Given the description of an element on the screen output the (x, y) to click on. 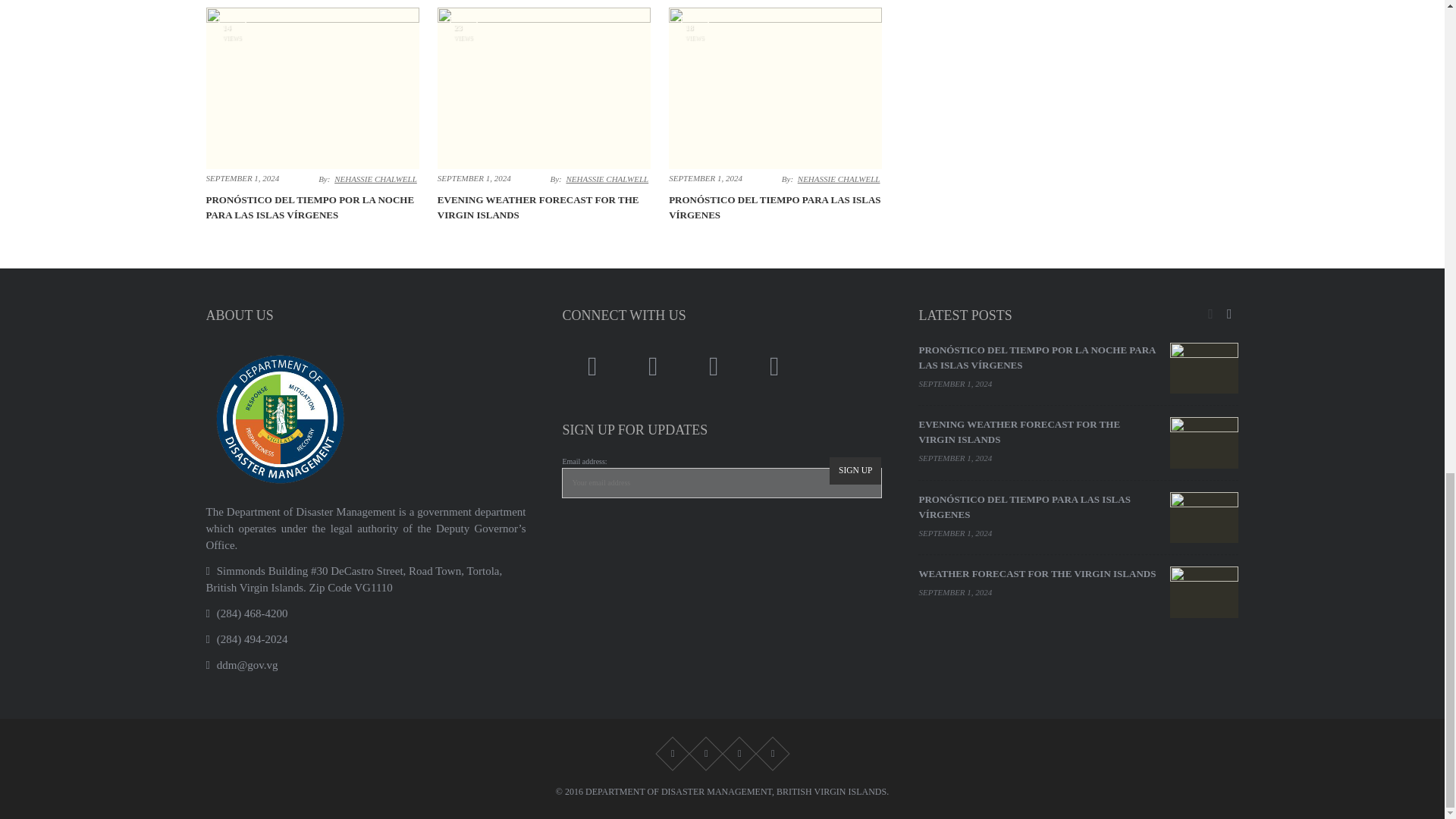
Sign up (854, 470)
Evening Weather Forecast for the Virgin Islands (538, 207)
facebook (592, 367)
